Given the description of an element on the screen output the (x, y) to click on. 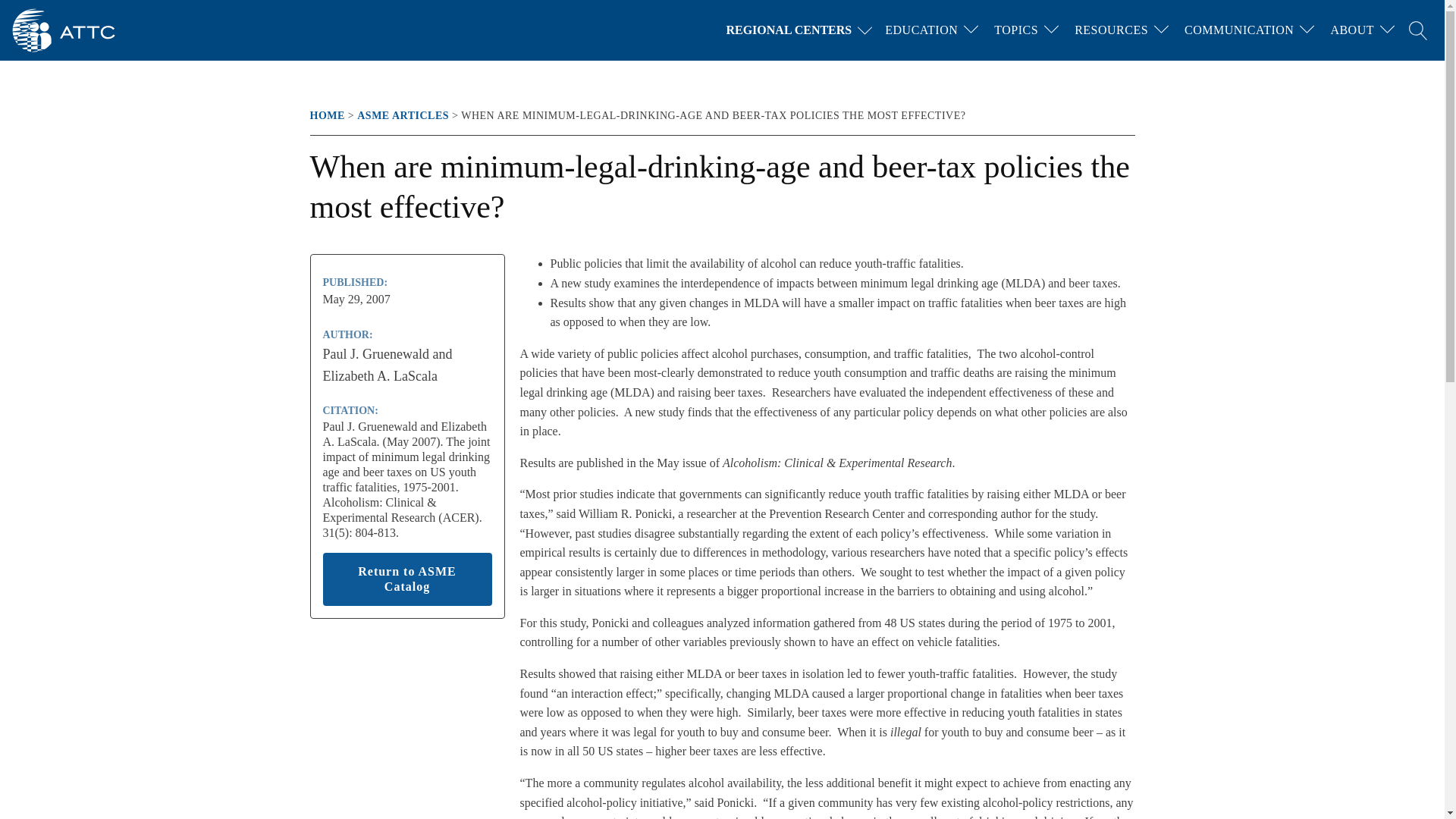
RESOURCES (1111, 30)
REGIONAL CENTERS (802, 30)
EDUCATION (921, 30)
TOPICS (1015, 30)
